Given the description of an element on the screen output the (x, y) to click on. 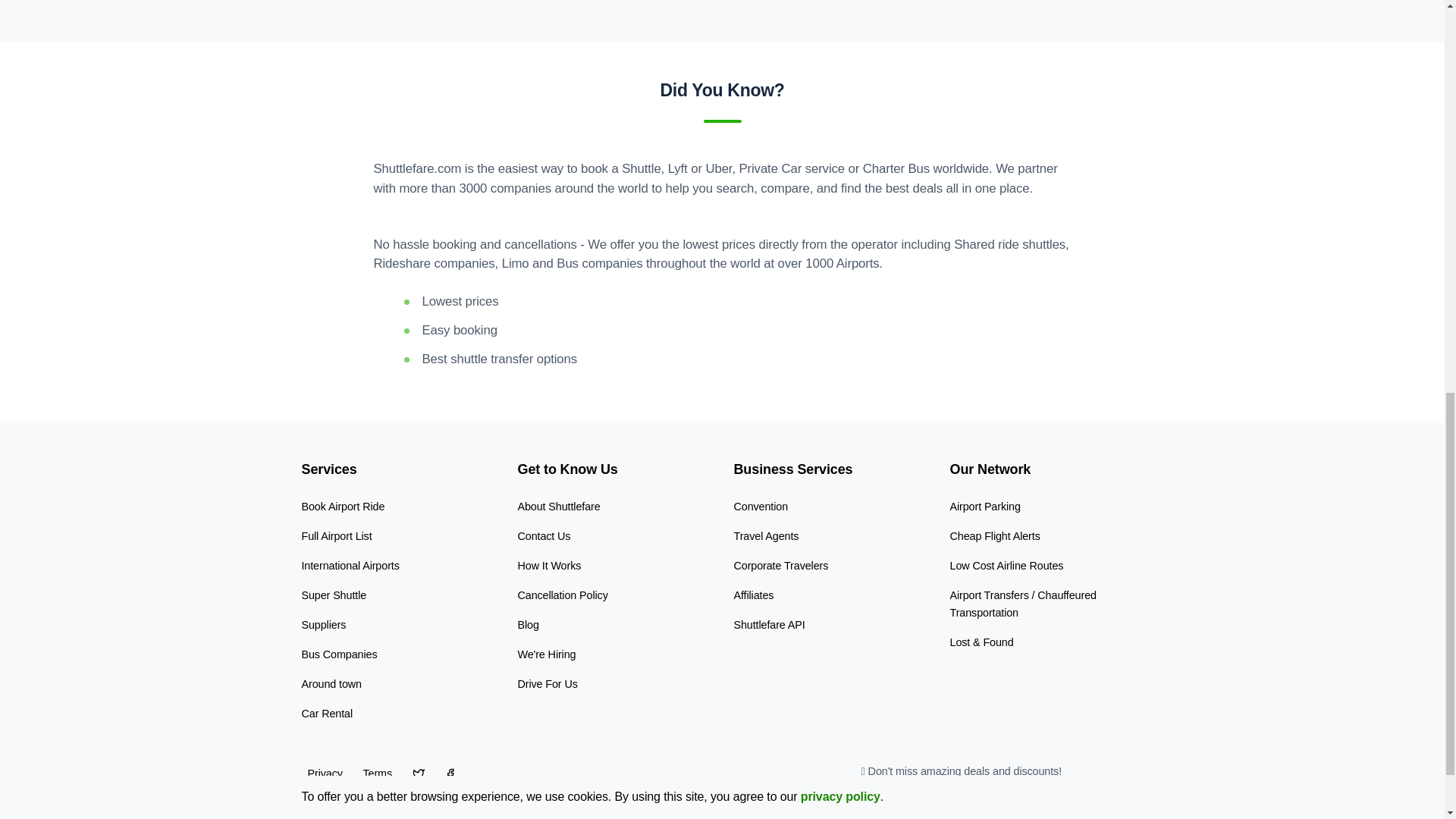
About Shuttlefare (557, 506)
Full Airport List (336, 535)
Drive For Us (546, 684)
Blog (527, 624)
Suppliers (323, 624)
How It Works (548, 565)
We're Hiring (545, 654)
Bus Companies (339, 654)
Contact Us (543, 535)
Super Shuttle (333, 594)
